Given the description of an element on the screen output the (x, y) to click on. 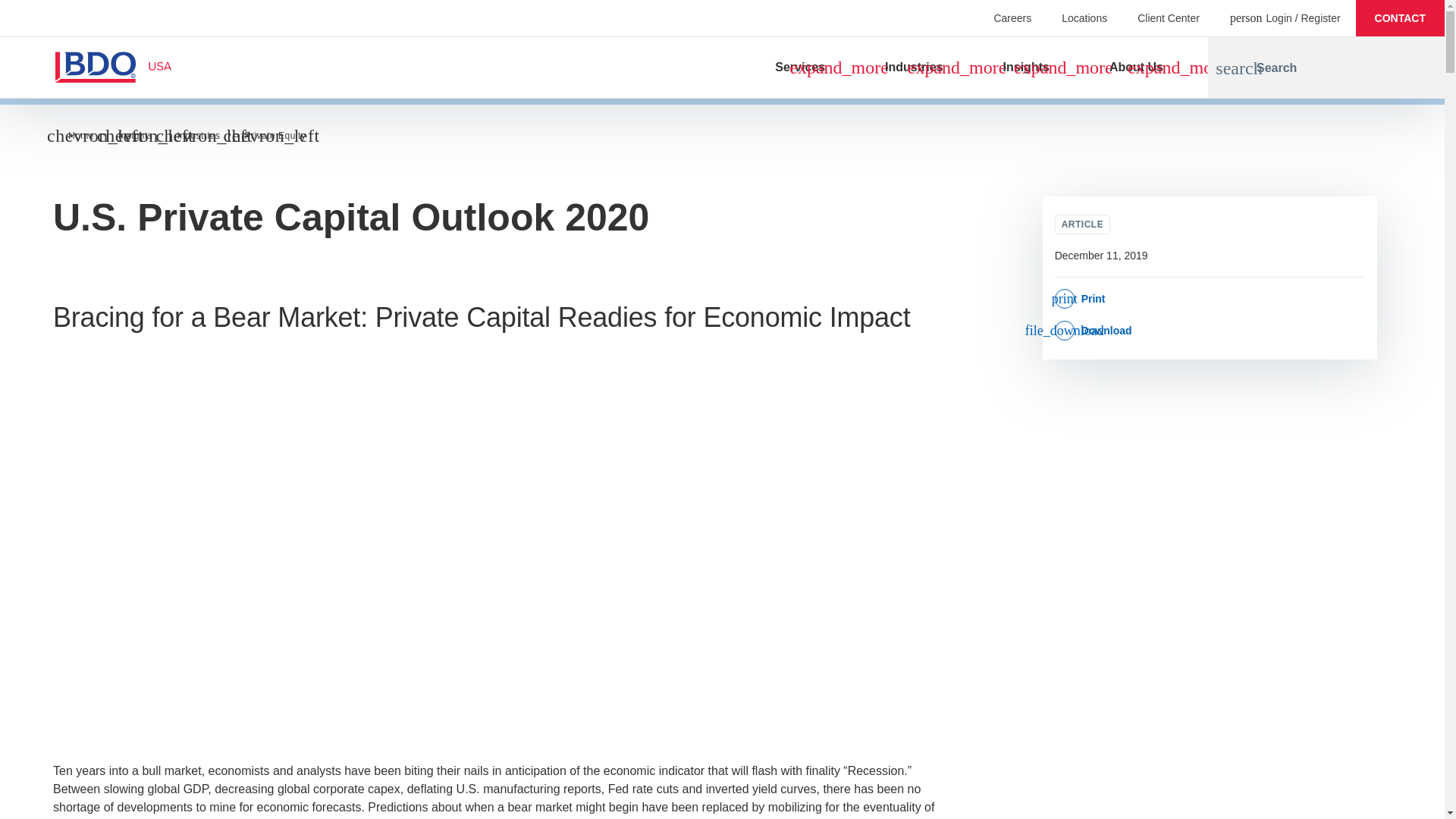
Careers (1011, 18)
Client Center (1168, 18)
Home (81, 135)
Locations (1083, 18)
Private Equity (274, 135)
BDO.General.Home (89, 66)
Insights (134, 135)
Industries (197, 135)
